Given the description of an element on the screen output the (x, y) to click on. 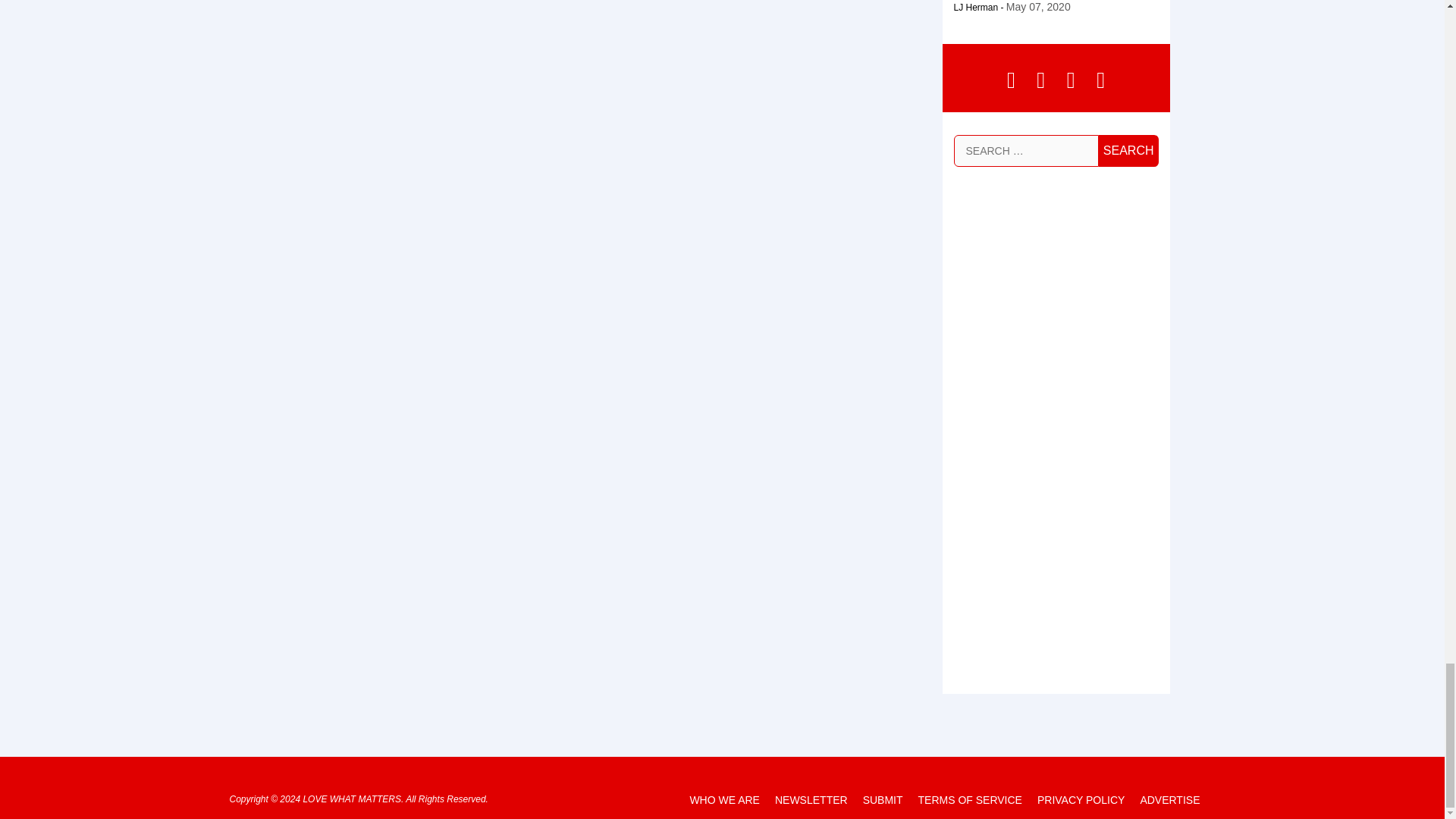
Search (1128, 150)
May 7, 2020 (1038, 6)
Search (1128, 150)
